Given the description of an element on the screen output the (x, y) to click on. 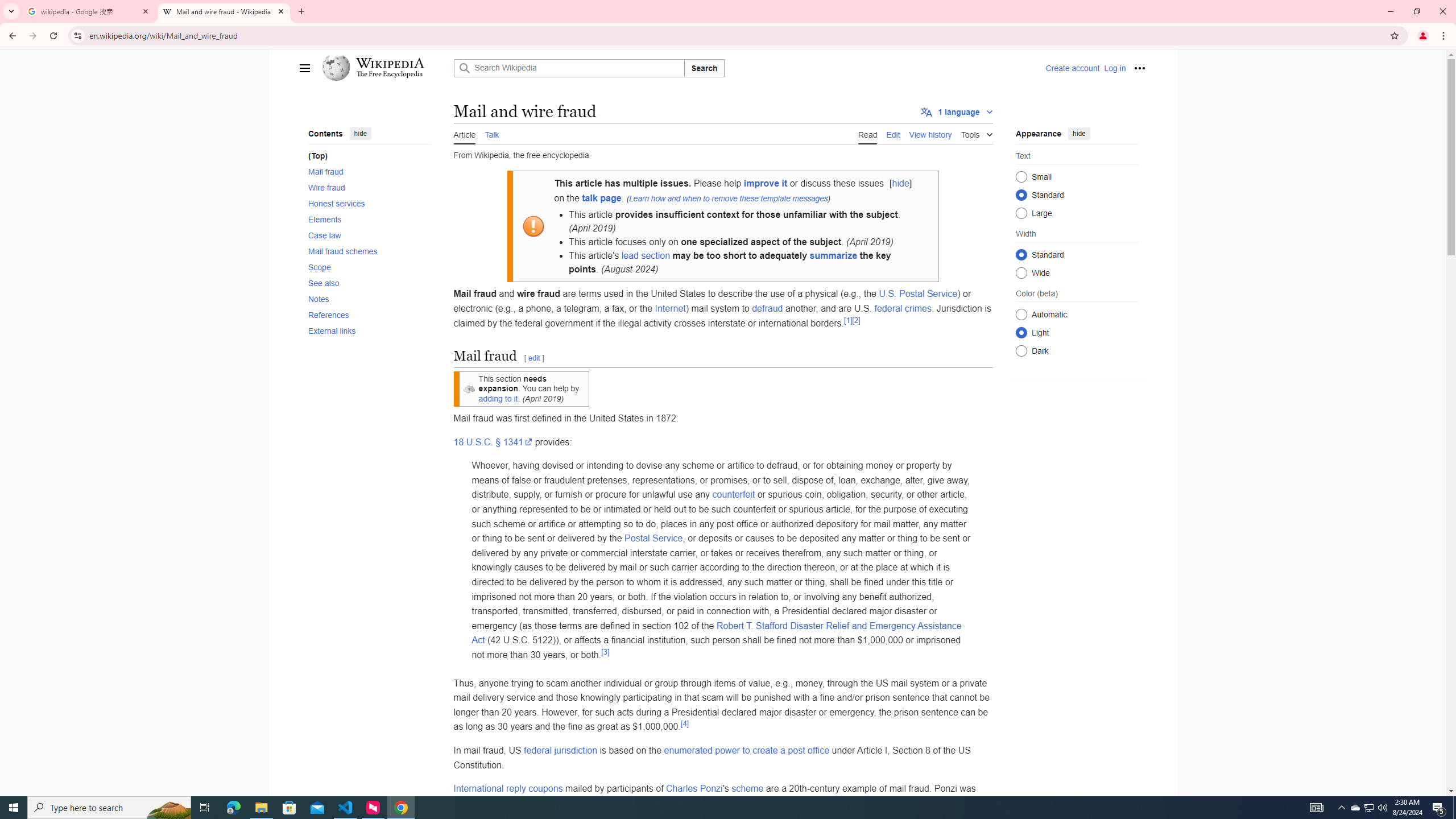
summarize (833, 255)
Scope (368, 266)
enumerated power to create a post office (746, 750)
AutomationID: toc-mw-content-text (365, 155)
federal jurisdiction (561, 750)
AutomationID: toc-Mail_fraud (365, 170)
AutomationID: toc-Notes (365, 298)
Elements (368, 219)
AutomationID: toc-References (365, 314)
Large (1020, 212)
Article (464, 133)
AutomationID: toc-Scope (365, 266)
